Given the description of an element on the screen output the (x, y) to click on. 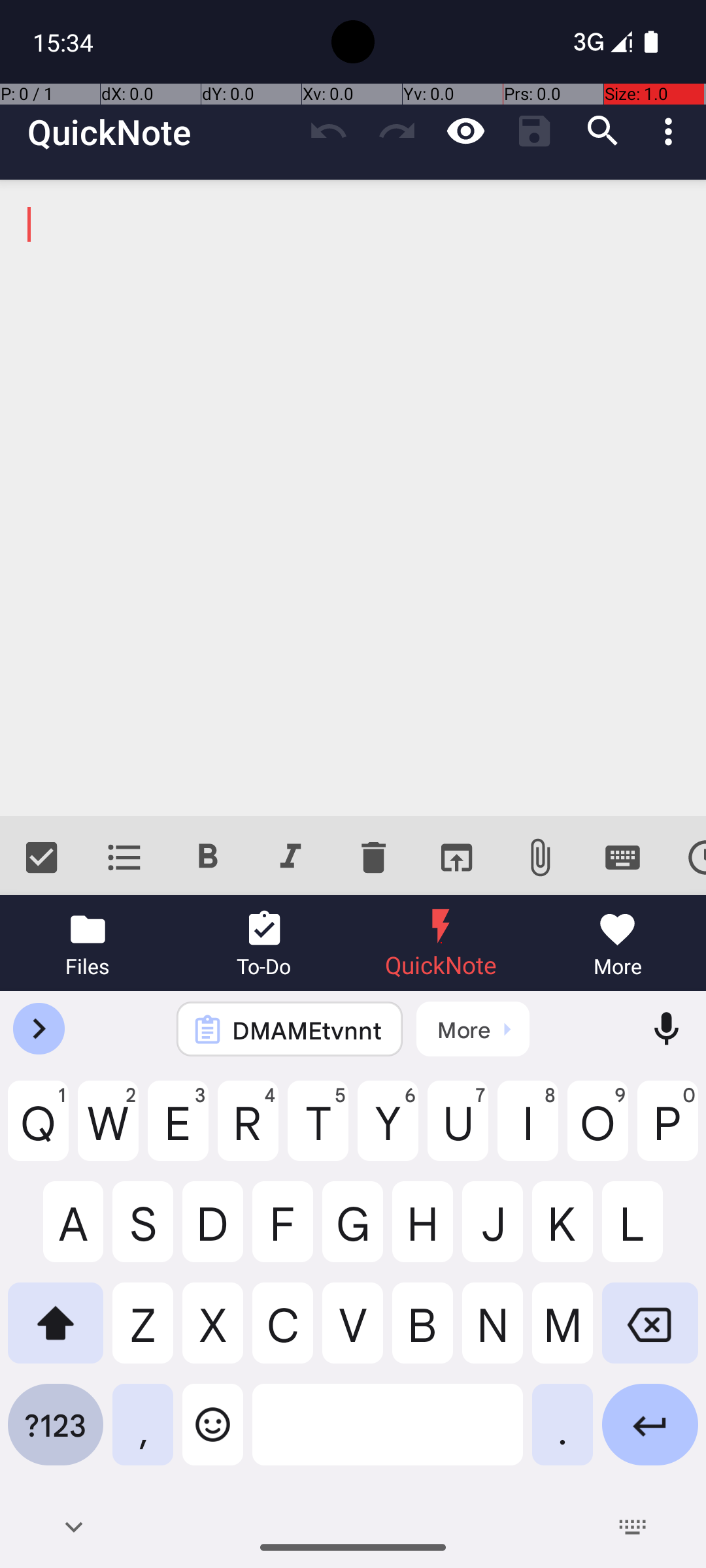
Q Element type: android.widget.FrameLayout (38, 1130)
E Element type: android.widget.FrameLayout (178, 1130)
R Element type: android.widget.FrameLayout (248, 1130)
Y Element type: android.widget.FrameLayout (387, 1130)
U Element type: android.widget.FrameLayout (457, 1130)
I Element type: android.widget.FrameLayout (527, 1130)
O Element type: android.widget.FrameLayout (597, 1130)
P Element type: android.widget.FrameLayout (667, 1130)
A Element type: android.widget.FrameLayout (55, 1231)
D Element type: android.widget.FrameLayout (212, 1231)
G Element type: android.widget.FrameLayout (352, 1231)
H Element type: android.widget.FrameLayout (422, 1231)
J Element type: android.widget.FrameLayout (492, 1231)
K Element type: android.widget.FrameLayout (562, 1231)
L Element type: android.widget.FrameLayout (649, 1231)
Z Element type: android.widget.FrameLayout (142, 1332)
X Element type: android.widget.FrameLayout (212, 1332)
C Element type: android.widget.FrameLayout (282, 1332)
V Element type: android.widget.FrameLayout (352, 1332)
B Element type: android.widget.FrameLayout (422, 1332)
N Element type: android.widget.FrameLayout (492, 1332)
DMAMEtvnnt Element type: android.widget.TextView (306, 1029)
